Given the description of an element on the screen output the (x, y) to click on. 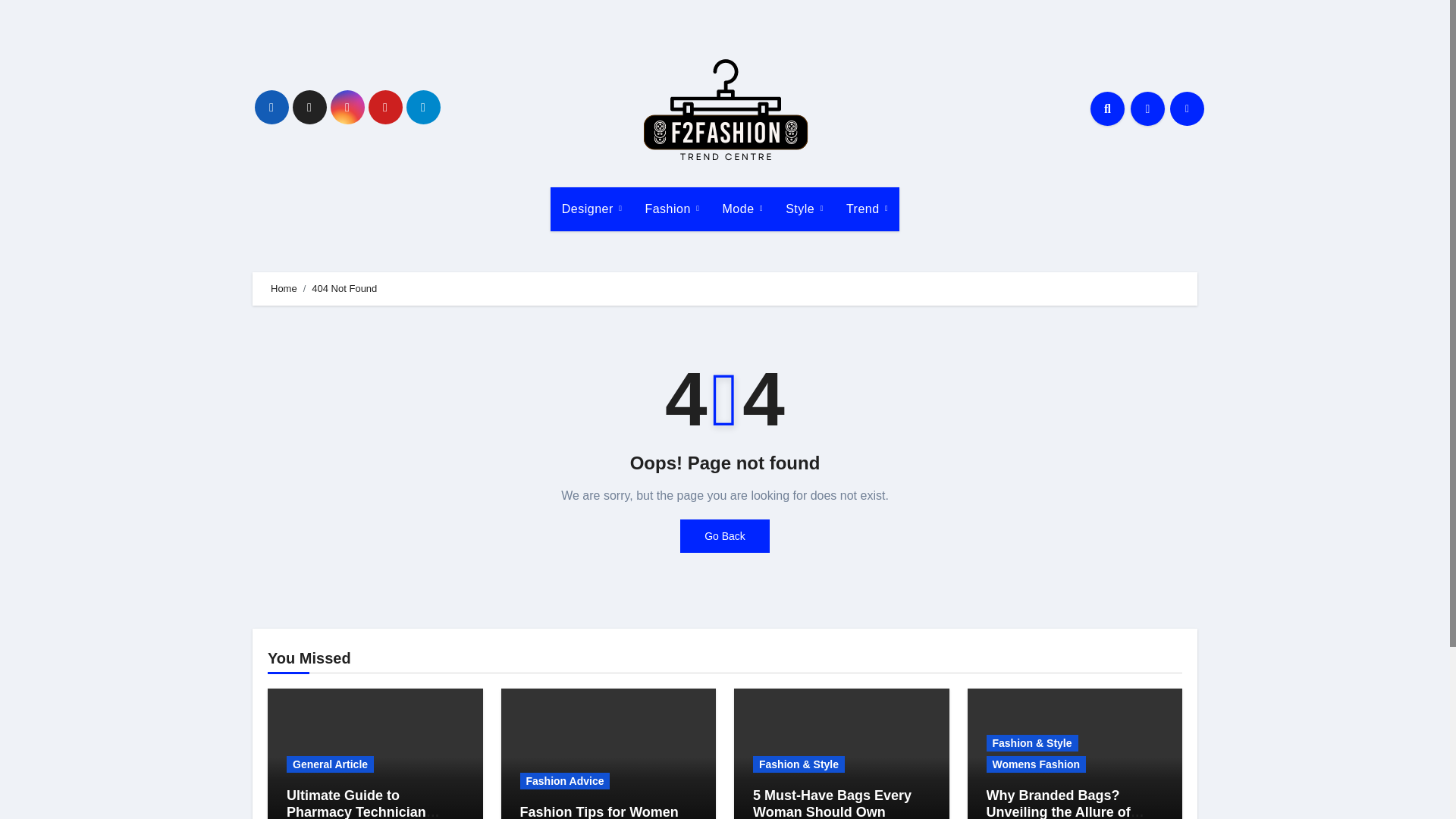
Designer (591, 208)
Style (804, 208)
Mode (742, 208)
Home (283, 288)
Fashion (671, 208)
Fashion (671, 208)
Trend (866, 208)
Style (804, 208)
Mode (742, 208)
Designer (591, 208)
